Given the description of an element on the screen output the (x, y) to click on. 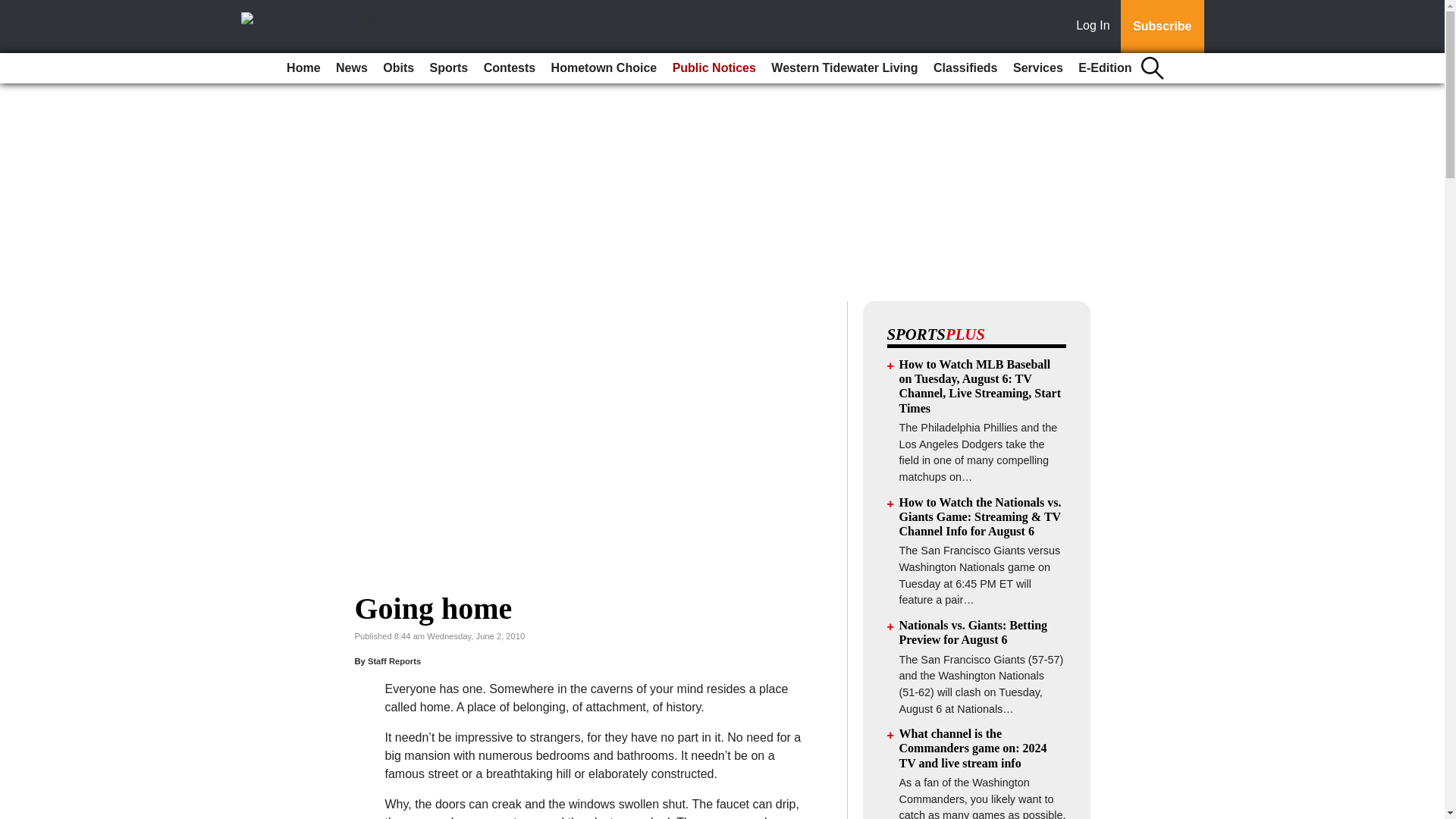
E-Edition (1104, 68)
Staff Reports (394, 660)
Western Tidewater Living (844, 68)
Home (303, 68)
Log In (1095, 26)
Hometown Choice (603, 68)
Classifieds (965, 68)
Public Notices (713, 68)
Sports (448, 68)
Contests (509, 68)
